Given the description of an element on the screen output the (x, y) to click on. 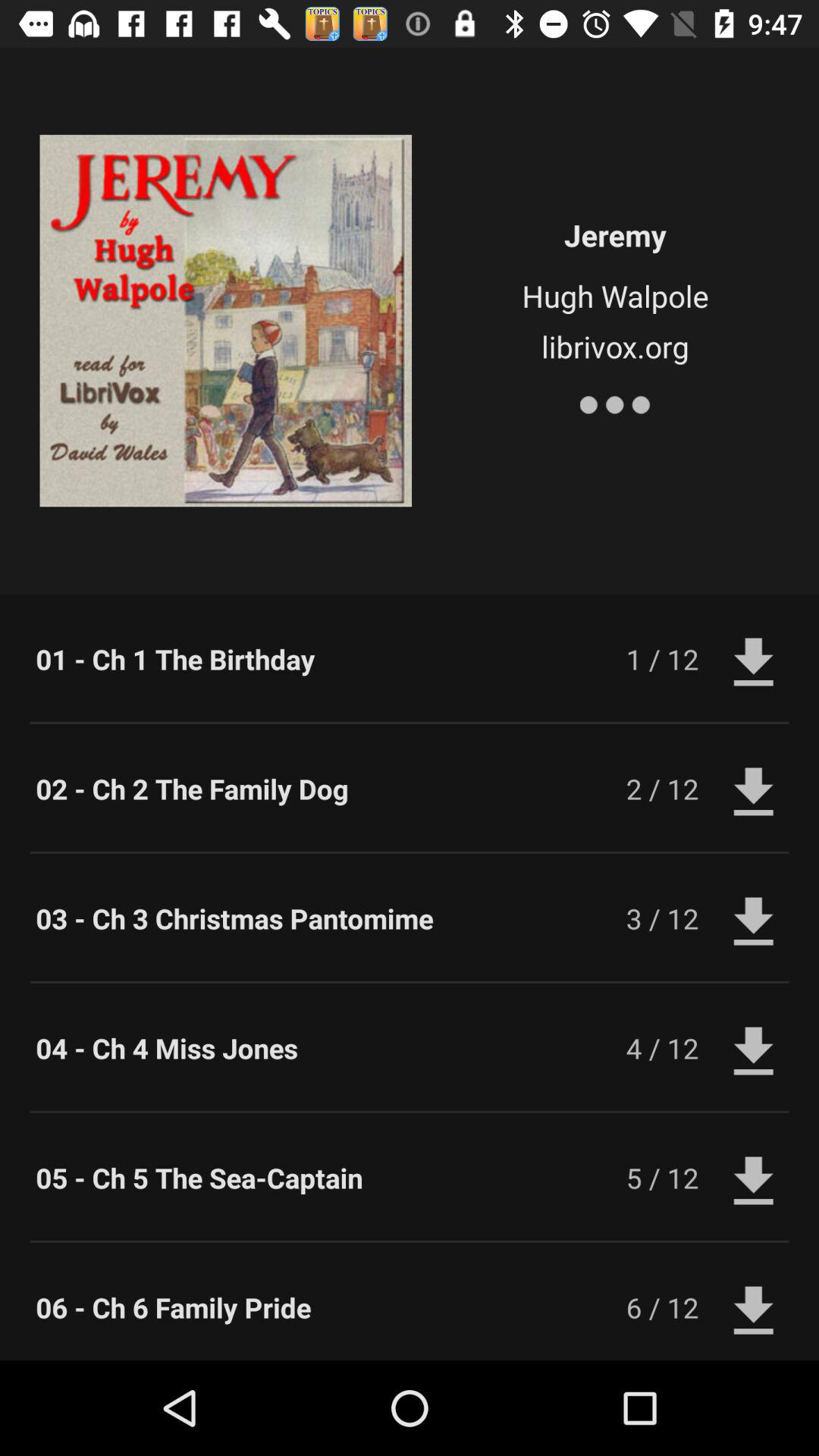
click on the second download icon from the right top of the page (753, 789)
click on download button next to 1  12 (753, 659)
click on download button next to 5  12 (753, 1177)
click on download button next to 4  12 (753, 1048)
